Given the description of an element on the screen output the (x, y) to click on. 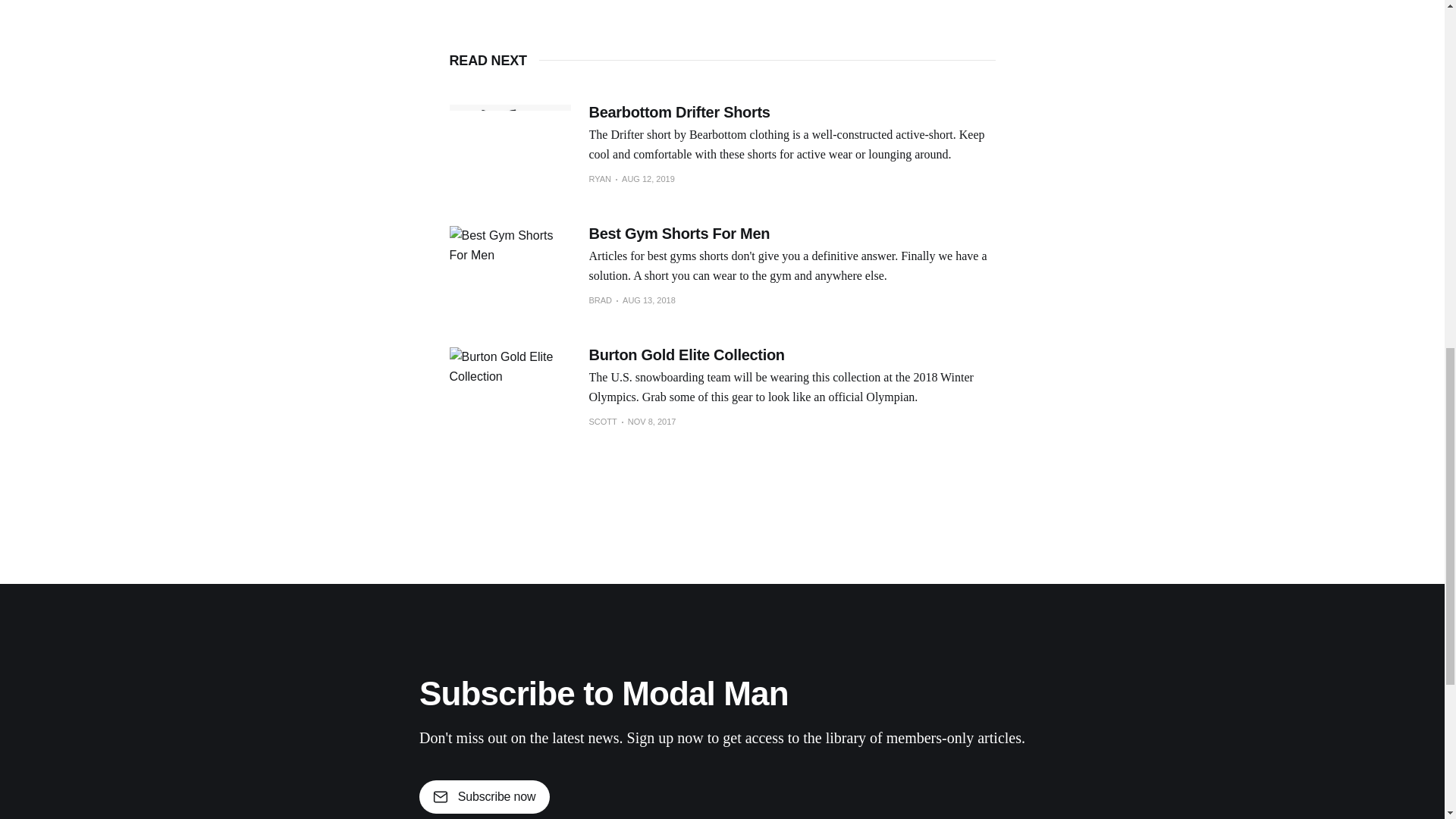
Subscribe now (484, 797)
